Given the description of an element on the screen output the (x, y) to click on. 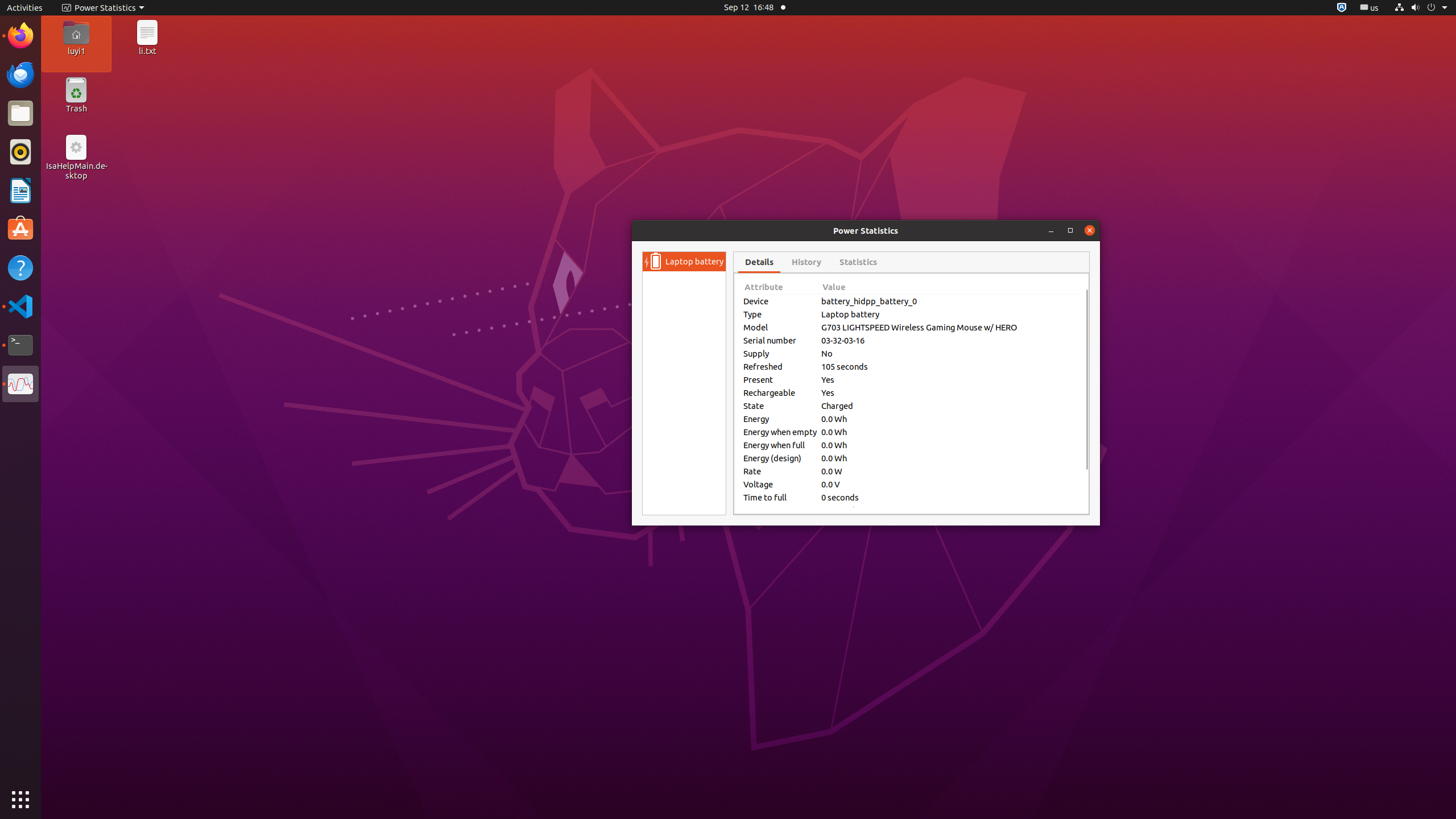
History Element type: page-tab (806, 261)
Serial number Element type: table-cell (779, 340)
0.0 Wh Element type: table-cell (950, 418)
Energy (design) Element type: table-cell (779, 458)
